Given the description of an element on the screen output the (x, y) to click on. 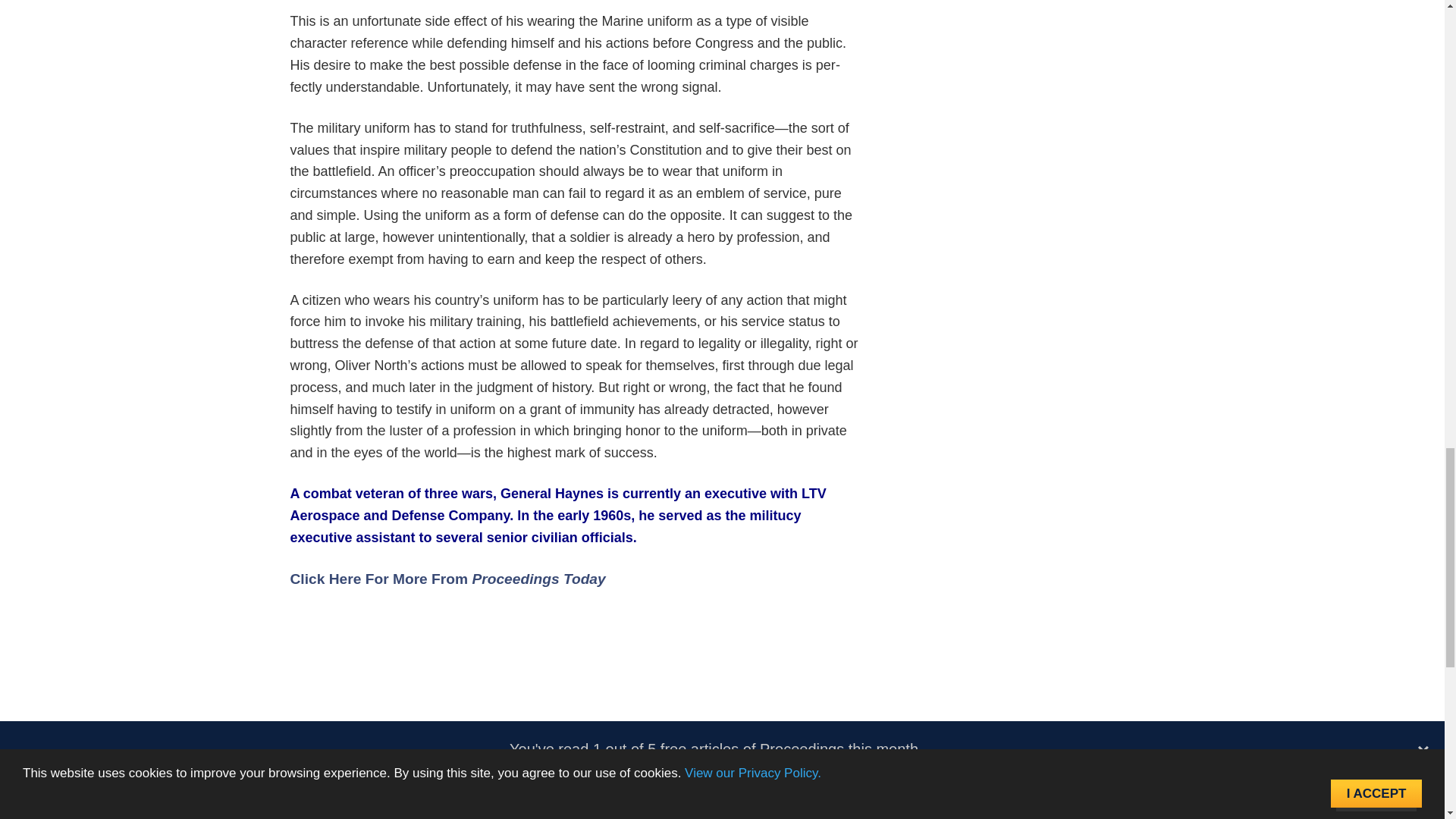
3rd party ad content (574, 686)
